Given the description of an element on the screen output the (x, y) to click on. 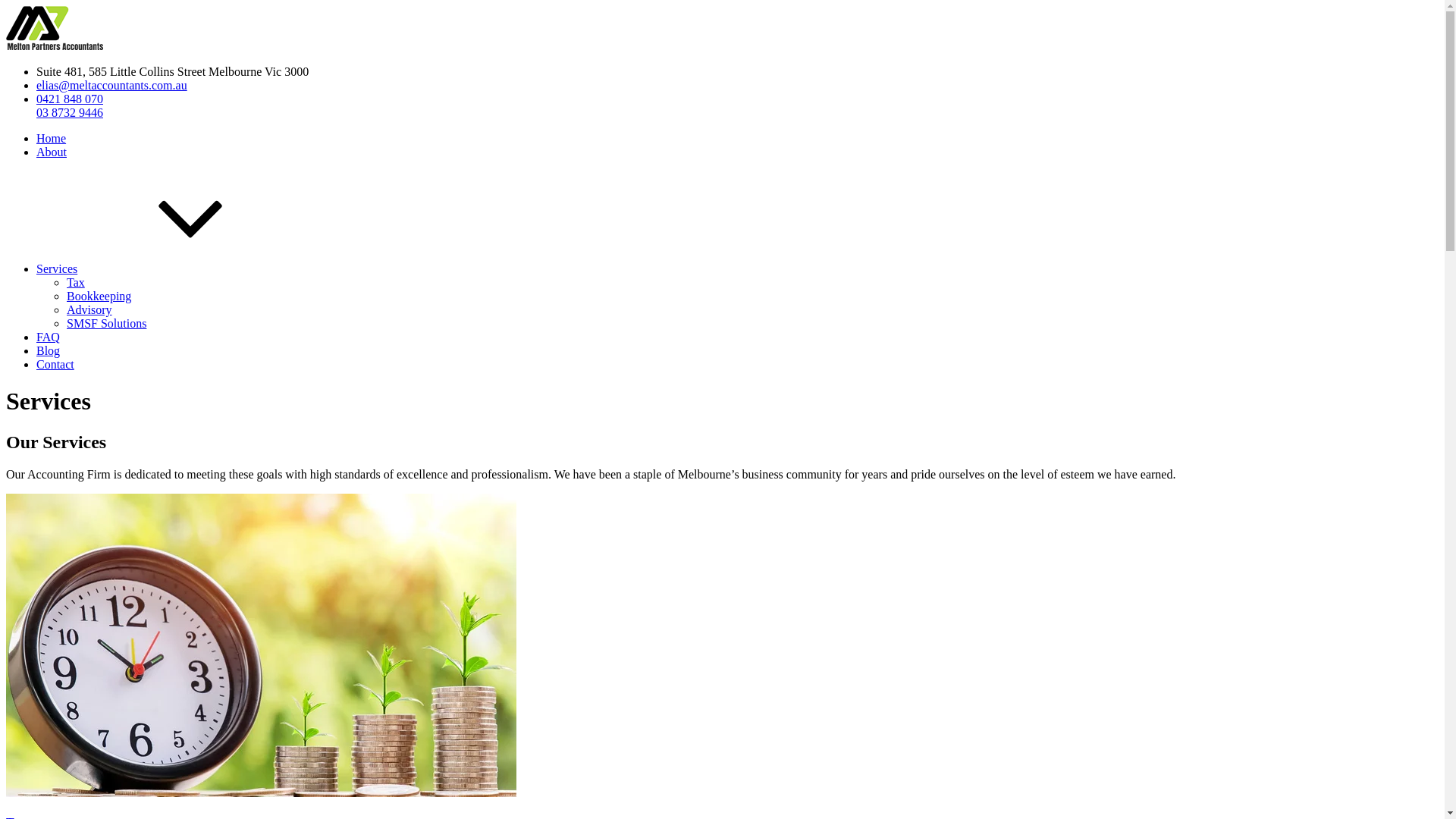
elias@meltaccountants.com.au Element type: text (111, 84)
SMSF Solutions Element type: text (106, 322)
Advisory Element type: text (89, 309)
Bookkeeping Element type: text (98, 295)
Blog Element type: text (47, 350)
Contact Element type: text (55, 363)
FAQ Element type: text (47, 336)
Tax Element type: text (75, 282)
Home Element type: text (50, 137)
0421 848 070 Element type: text (69, 98)
Services Element type: text (170, 268)
About Element type: text (51, 151)
03 8732 9446 Element type: text (69, 112)
